Given the description of an element on the screen output the (x, y) to click on. 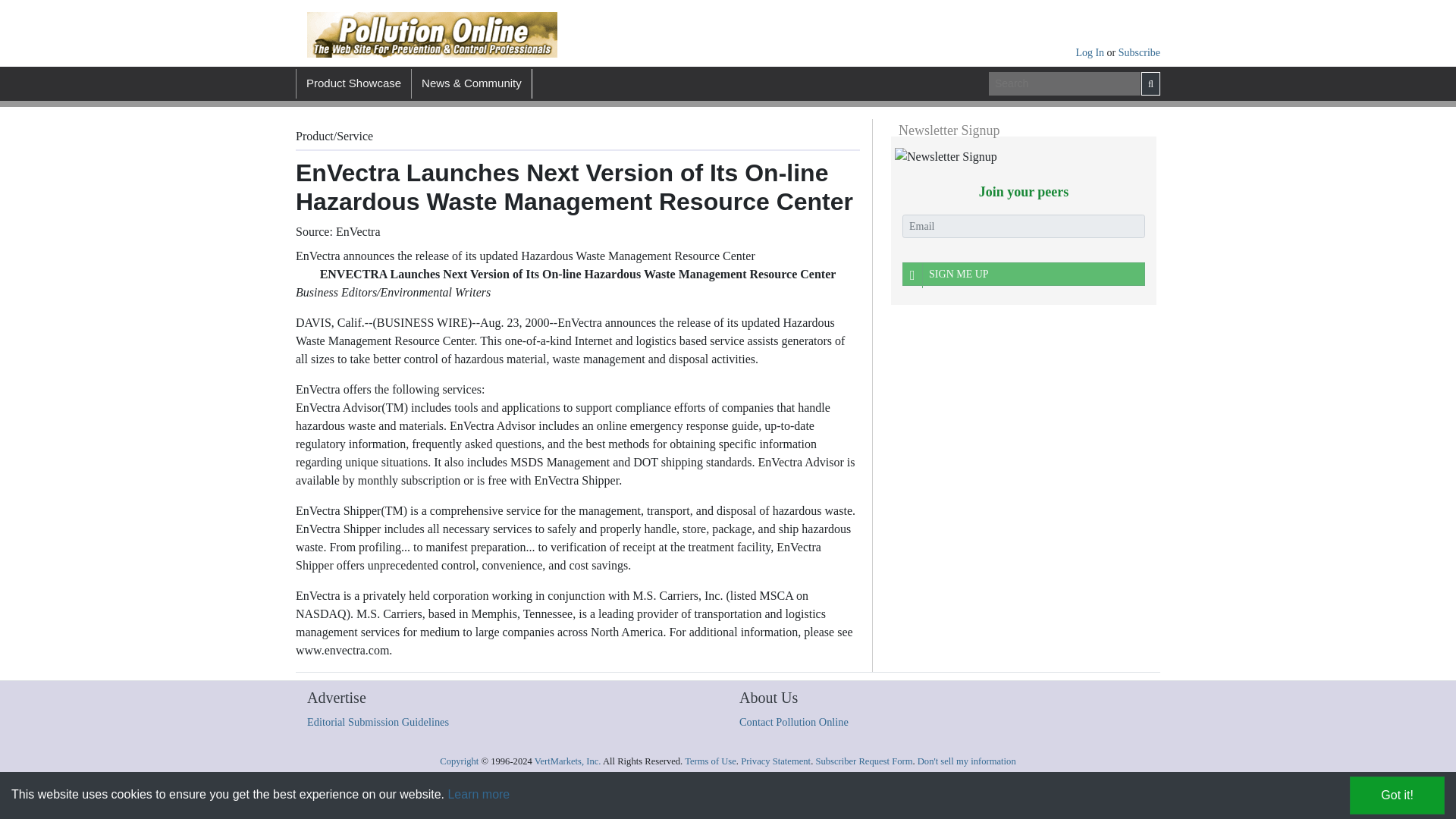
Subscriber Request Form (863, 760)
Print (684, 133)
Privacy Statement (775, 760)
Newsletter Signup (946, 157)
SIGN ME UP (1023, 273)
Contact Pollution Online (793, 721)
Copyright (459, 760)
Log In (1090, 52)
Editorial Submission Guidelines (377, 721)
VertMarkets, Inc. (567, 760)
